Given the description of an element on the screen output the (x, y) to click on. 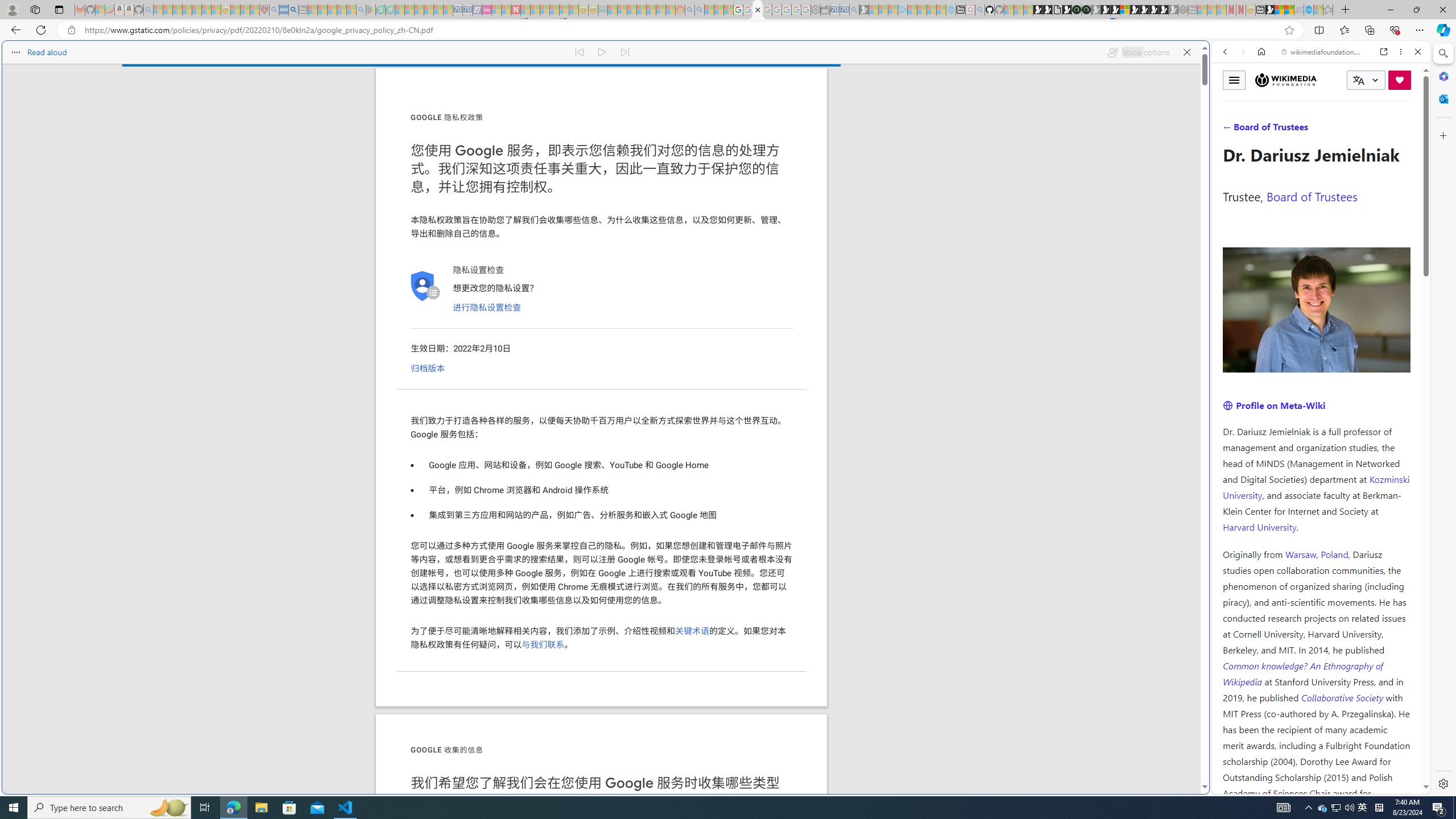
Terms of Use Agreement - Sleeping (380, 9)
